Given the description of an element on the screen output the (x, y) to click on. 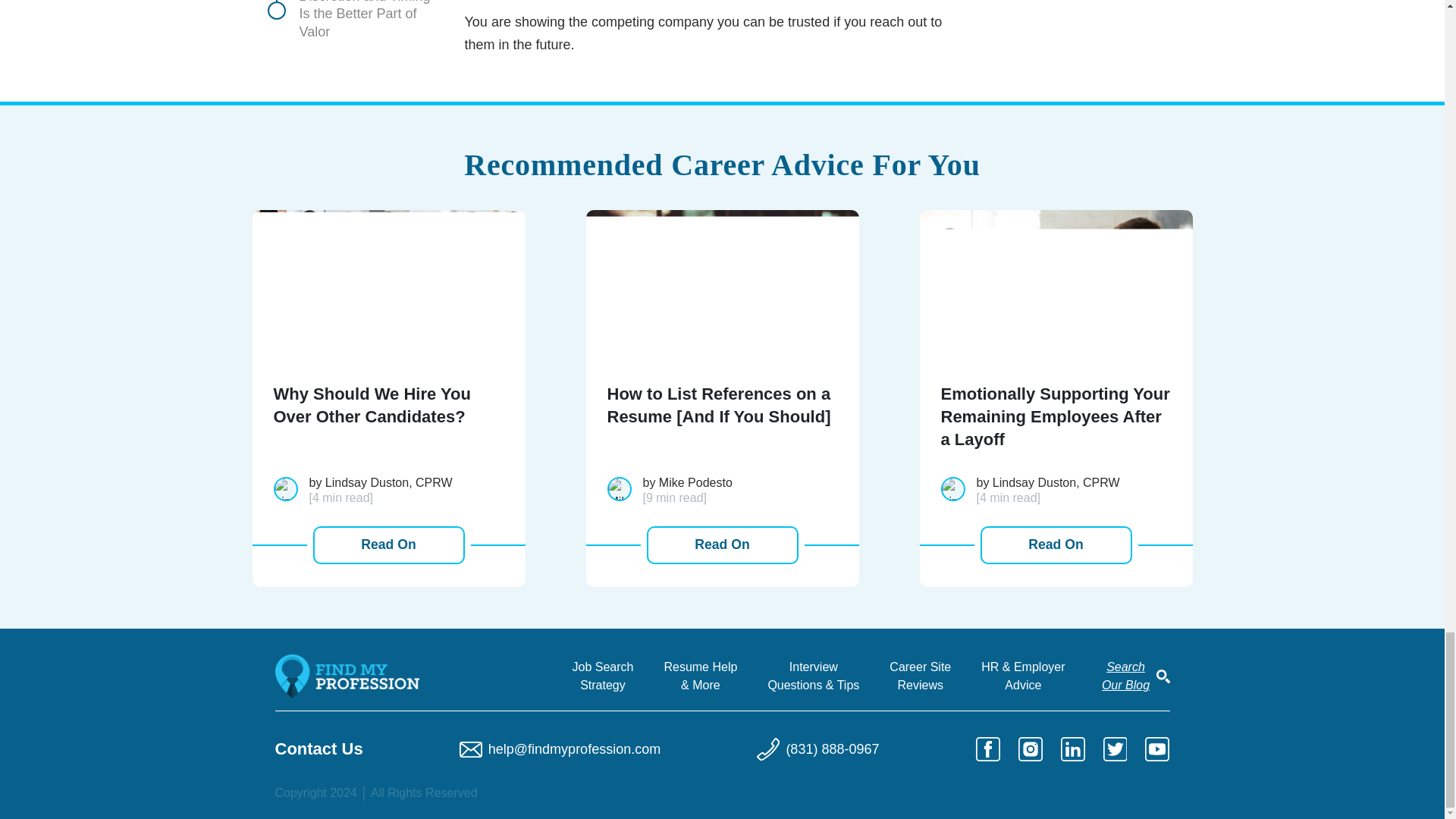
Job Search Strategy (602, 676)
Search Our Blog (1125, 676)
